Given the description of an element on the screen output the (x, y) to click on. 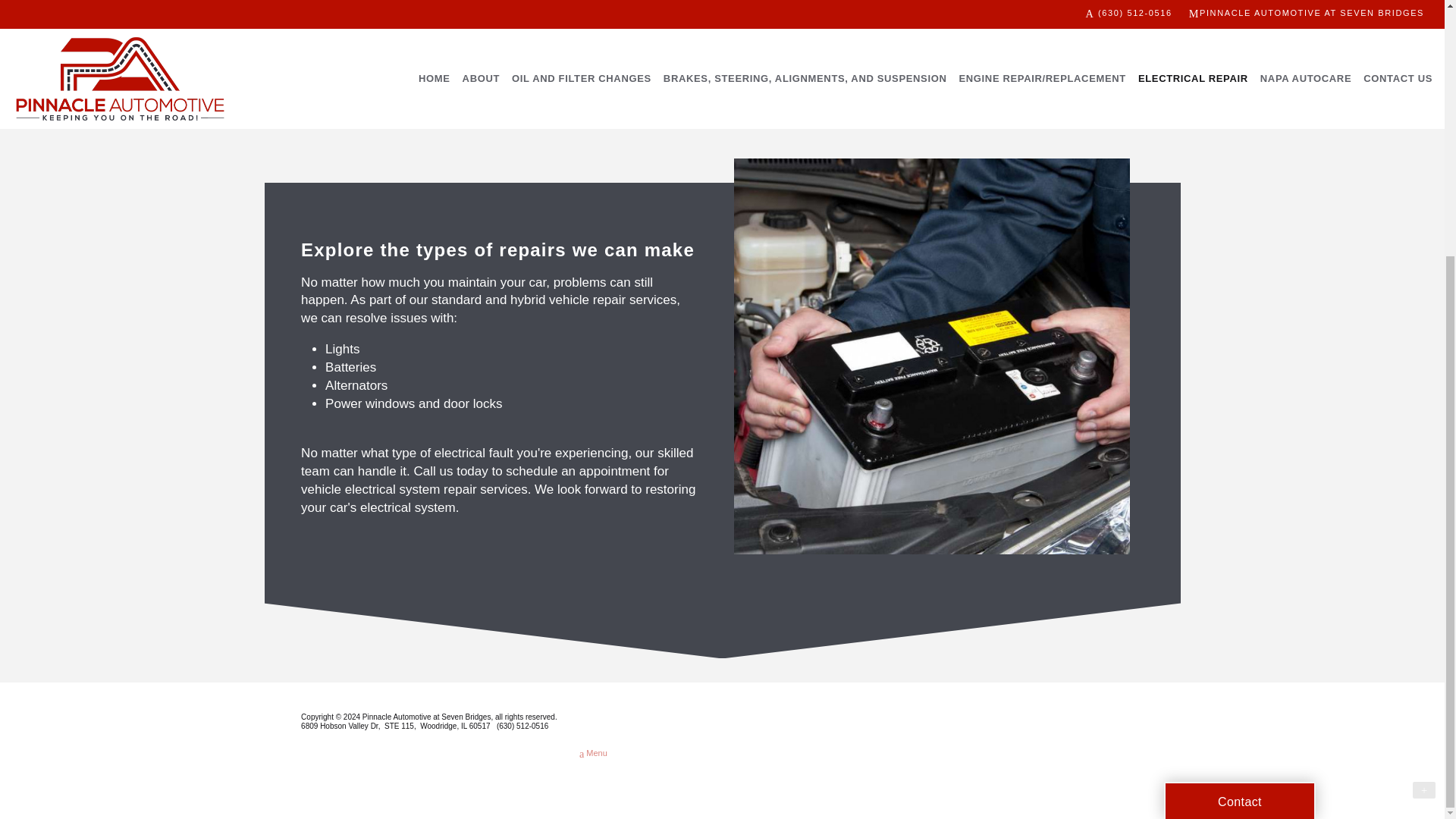
Open Menu (592, 753)
Menu (592, 753)
Contact (1239, 436)
